Given the description of an element on the screen output the (x, y) to click on. 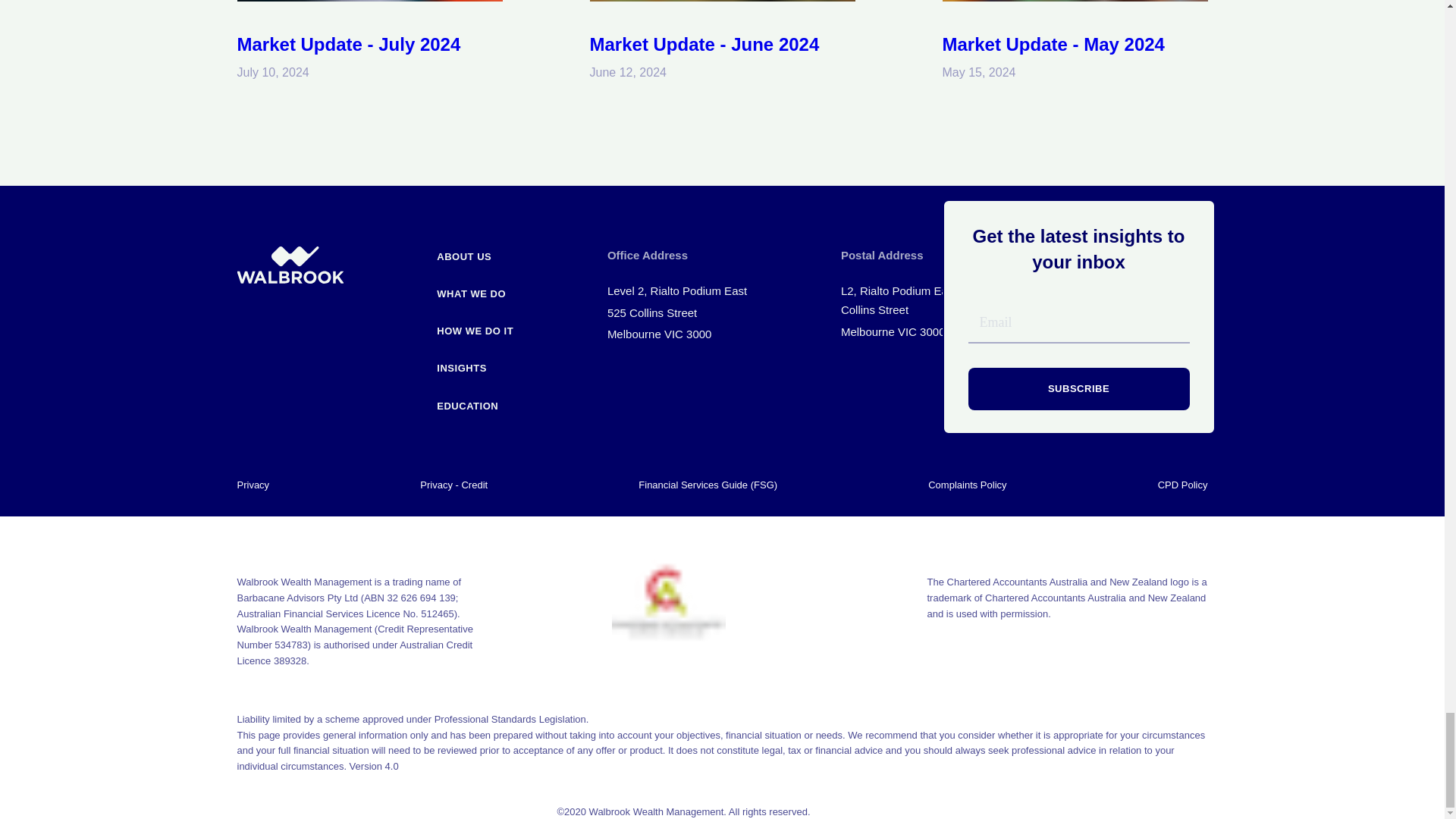
INSIGHTS (474, 362)
WHAT WE DO (474, 288)
Complaints Policy (967, 485)
Market Update - July 2024 (347, 44)
HOW WE DO IT (474, 325)
CPD Policy (1182, 485)
Market Update - May 2024 (1052, 44)
ABOUT US (474, 251)
Market Update - June 2024 (704, 44)
Privacy (252, 485)
